Given the description of an element on the screen output the (x, y) to click on. 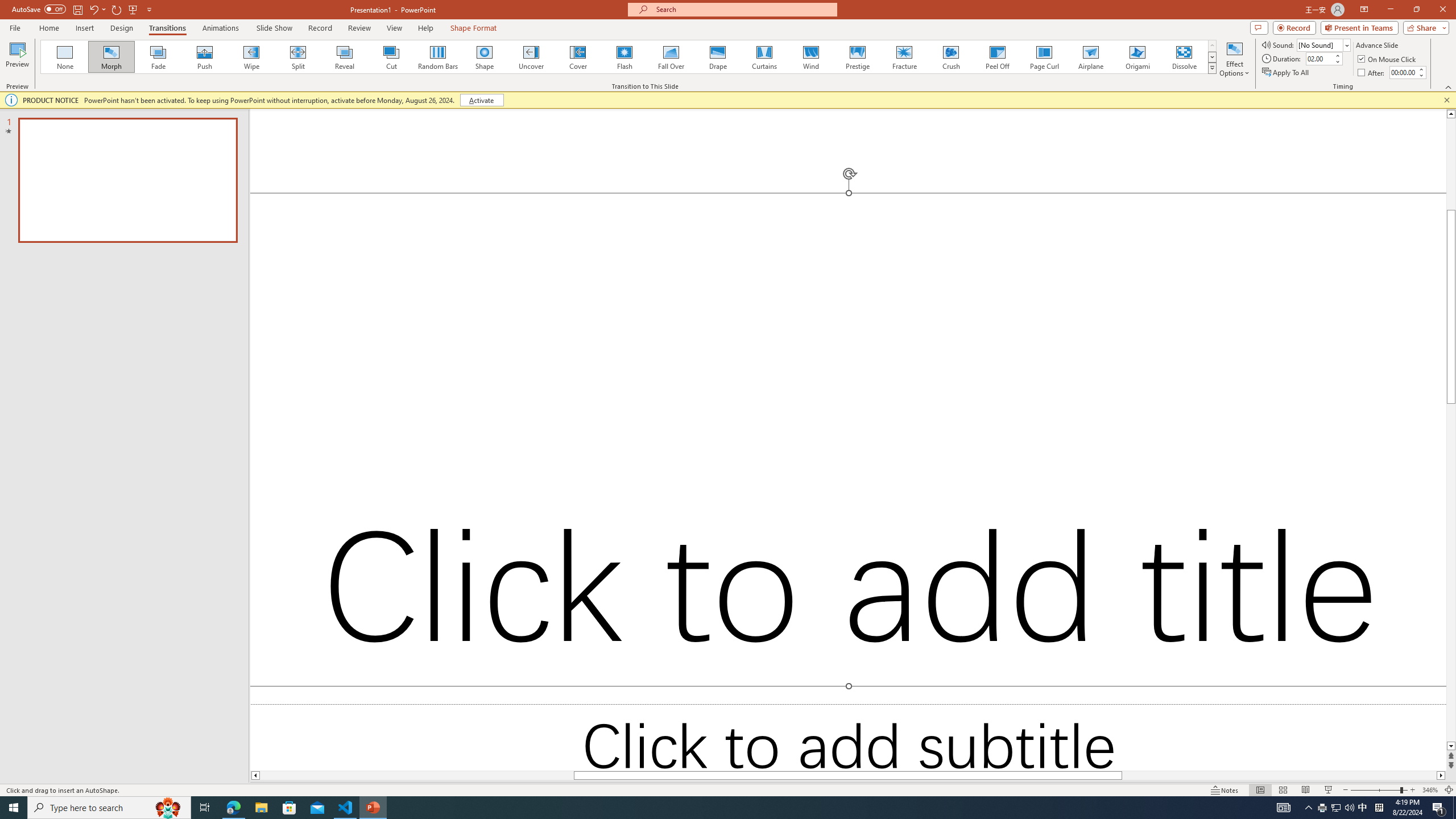
Drape (717, 56)
Morph (111, 56)
Uncover (531, 56)
After (1372, 72)
Close this message (1446, 99)
Flash (624, 56)
